Given the description of an element on the screen output the (x, y) to click on. 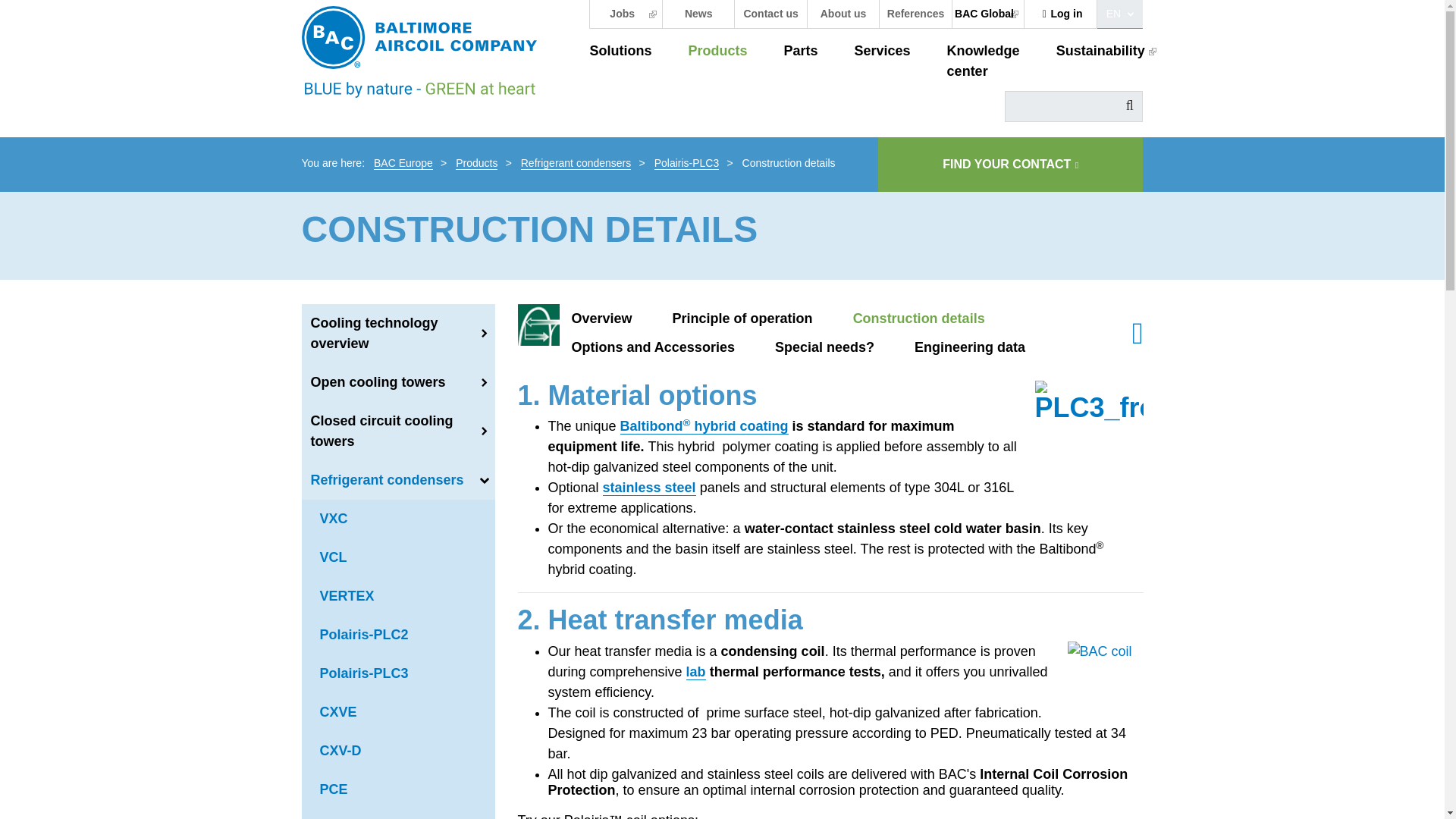
Parts (801, 50)
VCL (398, 557)
CXVE (398, 712)
Jobs (625, 14)
Polairis-PLC2 (398, 634)
Sustainability (1106, 50)
Home (434, 51)
References (914, 14)
Parts (801, 50)
